Given the description of an element on the screen output the (x, y) to click on. 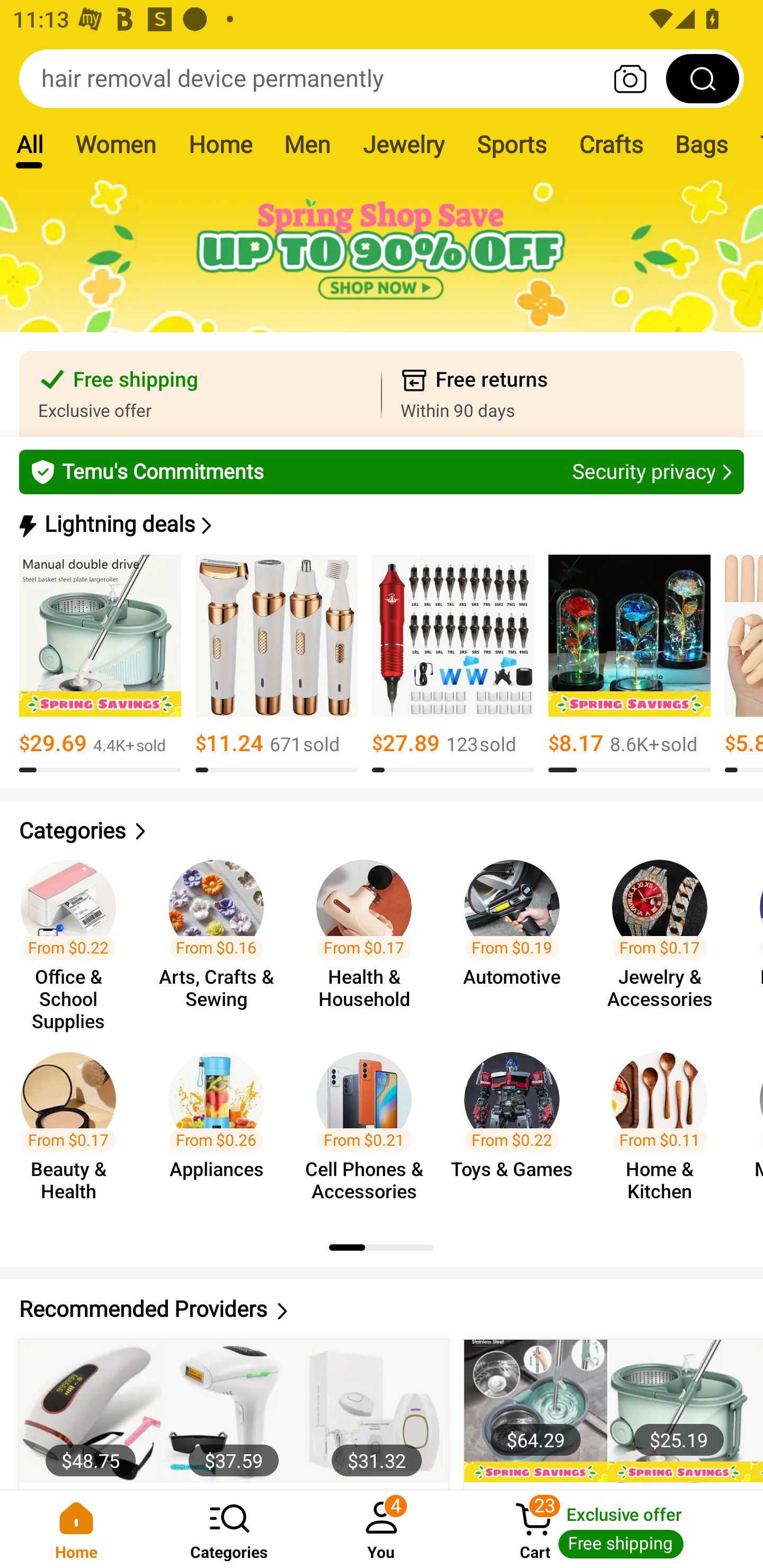
hair removal device permanently (381, 78)
All (29, 144)
Women (115, 144)
Home (219, 144)
Men (306, 144)
Jewelry (403, 144)
Sports (511, 144)
Crafts (611, 144)
Bags (701, 144)
Free shipping Exclusive offer (200, 394)
Free returns Within 90 days (562, 394)
Temu's Commitments (381, 471)
Lightning deals (379, 524)
$29.69 4.4K+￼sold 11.0 (100, 664)
$11.24 671￼sold 8.0 (276, 664)
$27.89 123￼sold 8.0 (453, 664)
$8.17 8.6K+￼sold 18.0 (629, 664)
Categories (381, 830)
From $0.22 Office & School Supplies (74, 936)
From $0.16 Arts, Crafts & Sewing (222, 936)
From $0.17 Health & Household (369, 936)
From $0.19 Automotive (517, 936)
From $0.17 Jewelry & Accessories (665, 936)
From $0.17 Beauty & Health (74, 1128)
From $0.26 Appliances (222, 1128)
From $0.21 Cell Phones & Accessories (369, 1128)
From $0.22 Toys & Games (517, 1128)
From $0.11 Home & Kitchen (665, 1128)
Recommended Providers (381, 1309)
Home (76, 1528)
Categories (228, 1528)
You 4 You (381, 1528)
Cart 23 Cart Exclusive offer (610, 1528)
